Given the description of an element on the screen output the (x, y) to click on. 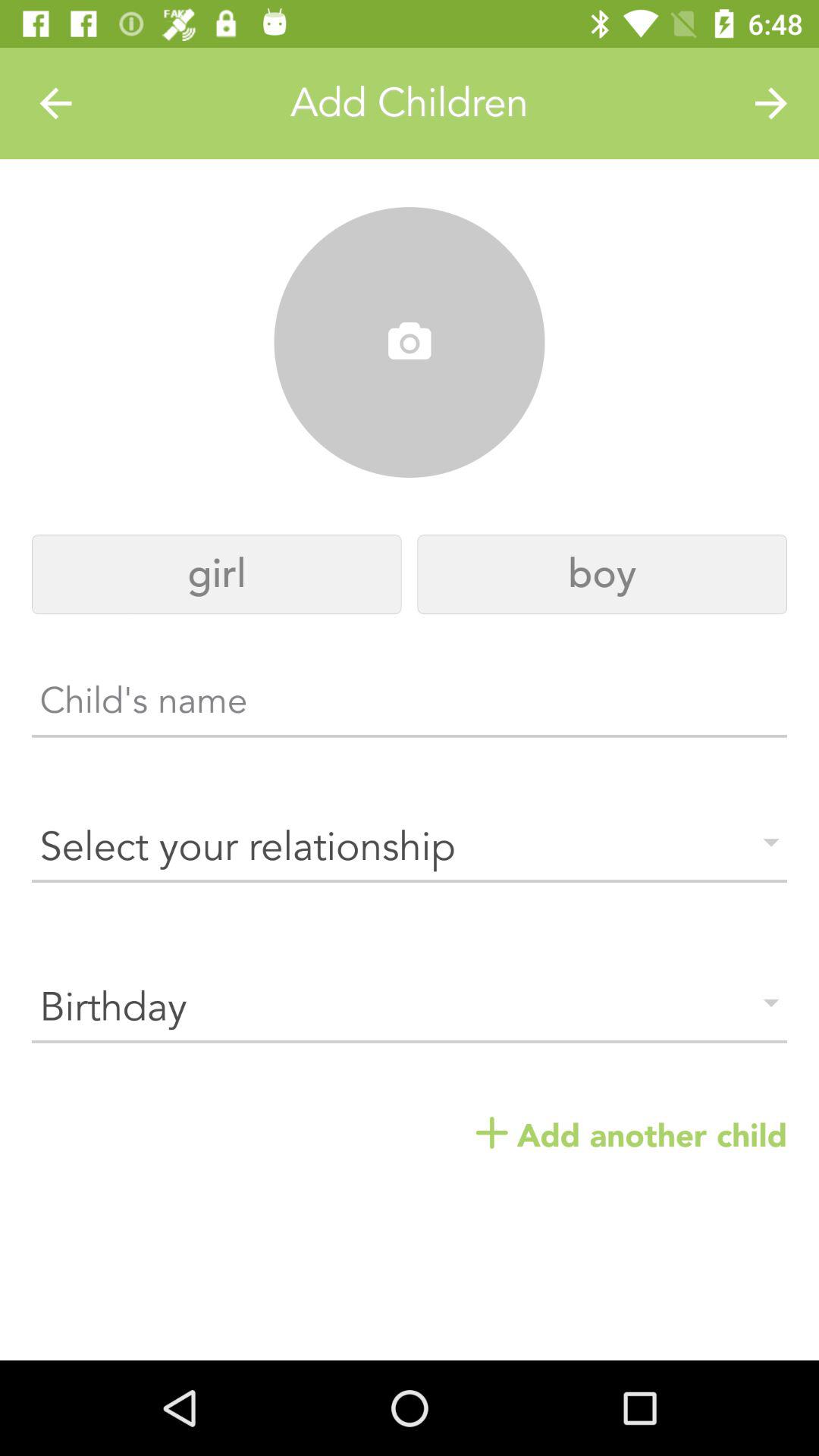
select icon to the left of add children icon (55, 103)
